Given the description of an element on the screen output the (x, y) to click on. 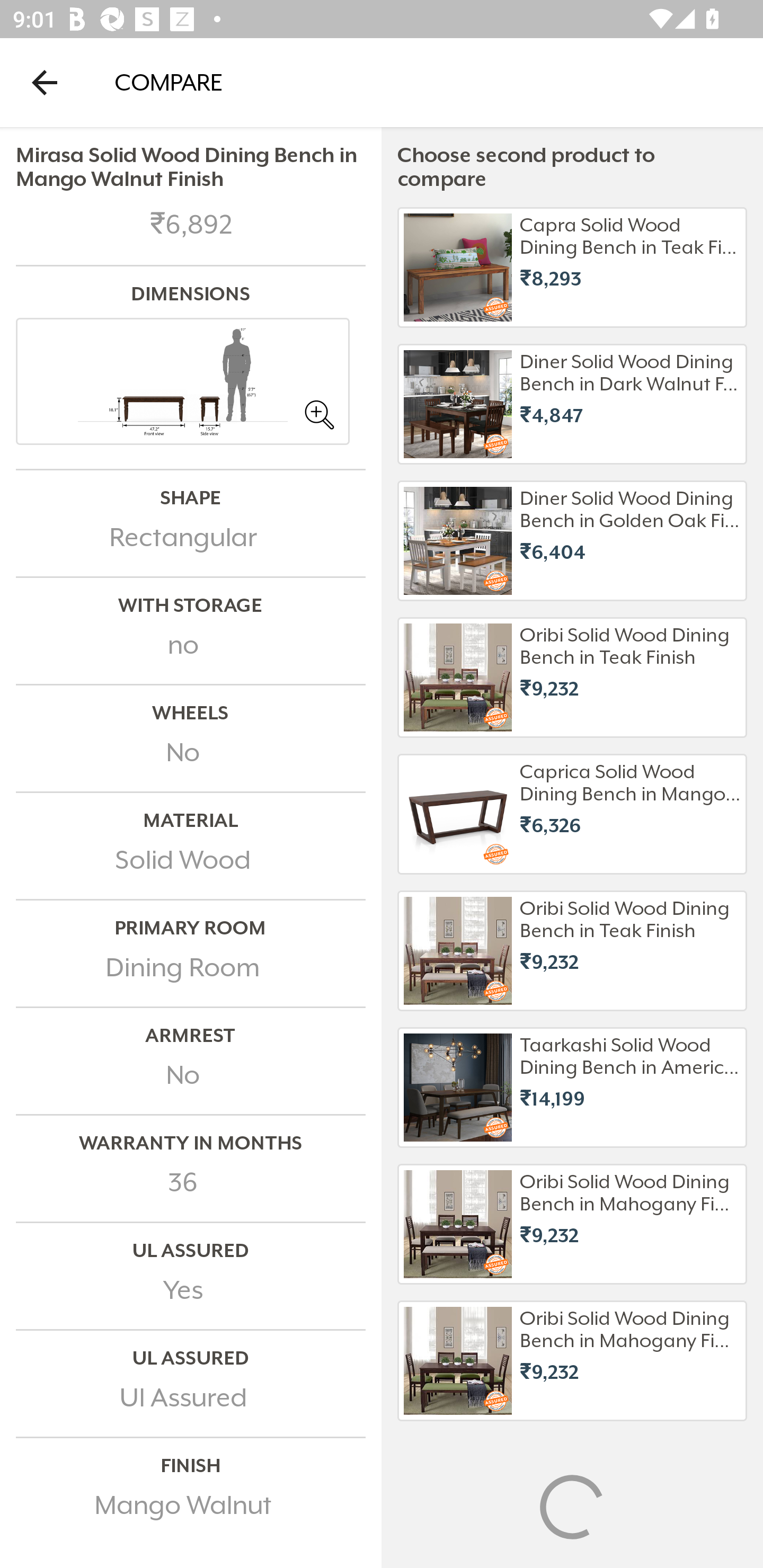
Navigate up (44, 82)
